Given the description of an element on the screen output the (x, y) to click on. 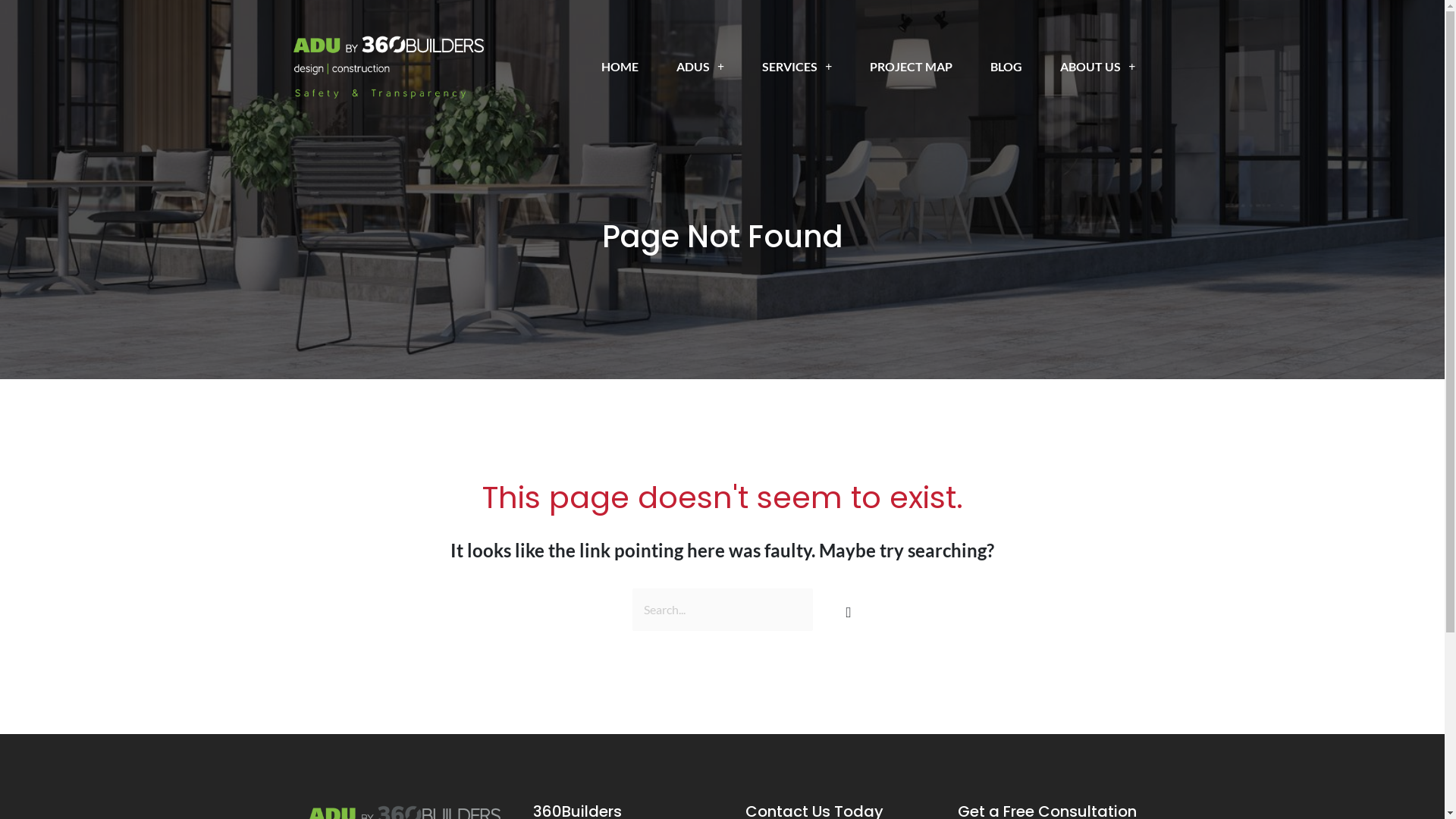
ABOUT US Element type: text (1097, 66)
SERVICES Element type: text (796, 66)
Search Element type: text (845, 604)
FREE CONSULTATION Element type: text (1046, 16)
1-818-208-6704 Element type: text (870, 16)
BLOG Element type: text (1006, 66)
HOME Element type: text (619, 66)
ADUS Element type: text (700, 66)
PROJECT MAP Element type: text (910, 66)
